Given the description of an element on the screen output the (x, y) to click on. 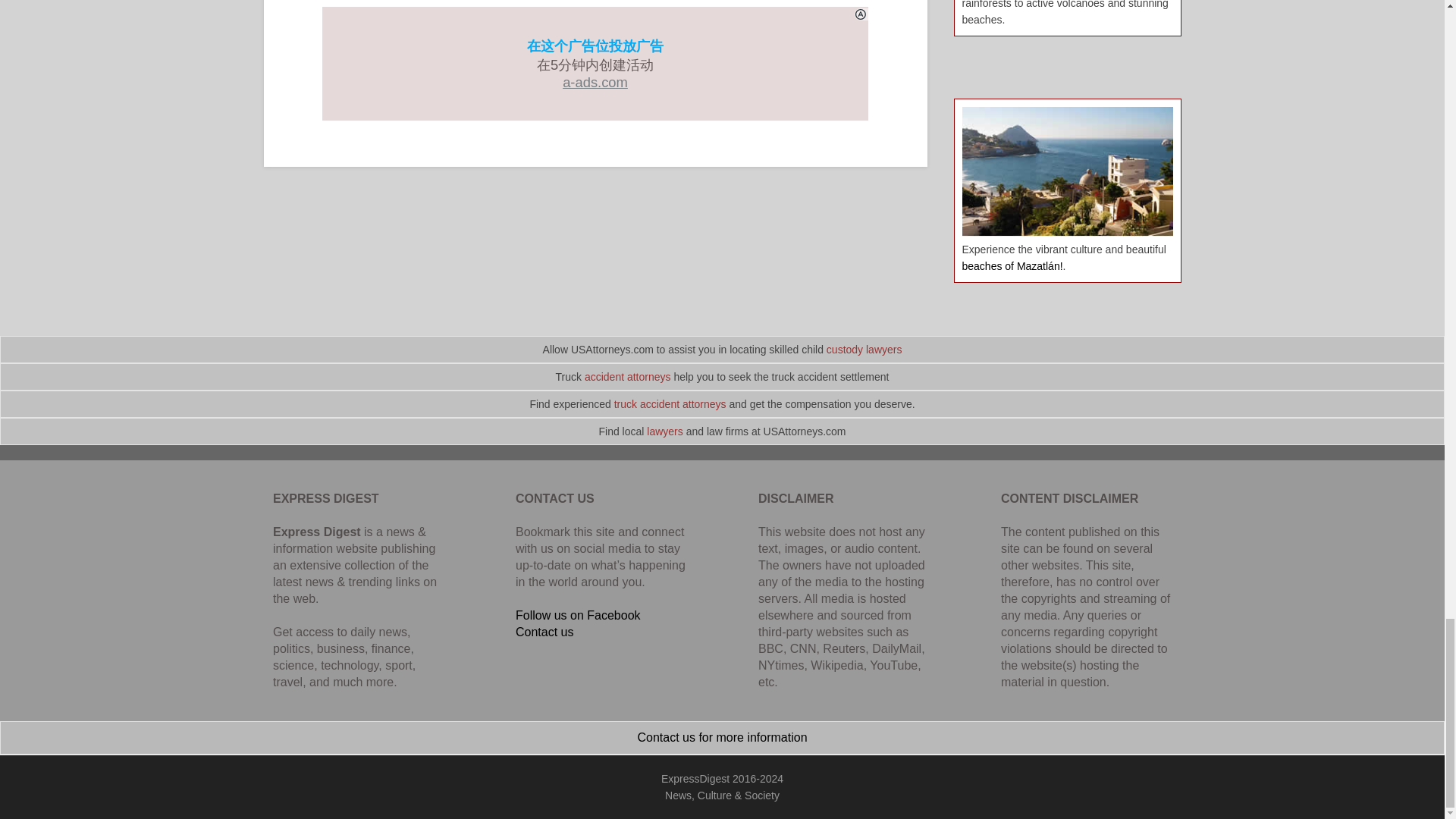
custody lawyers (864, 349)
lawyers (664, 431)
accident attorneys (628, 377)
truck accident attorneys (670, 404)
